Given the description of an element on the screen output the (x, y) to click on. 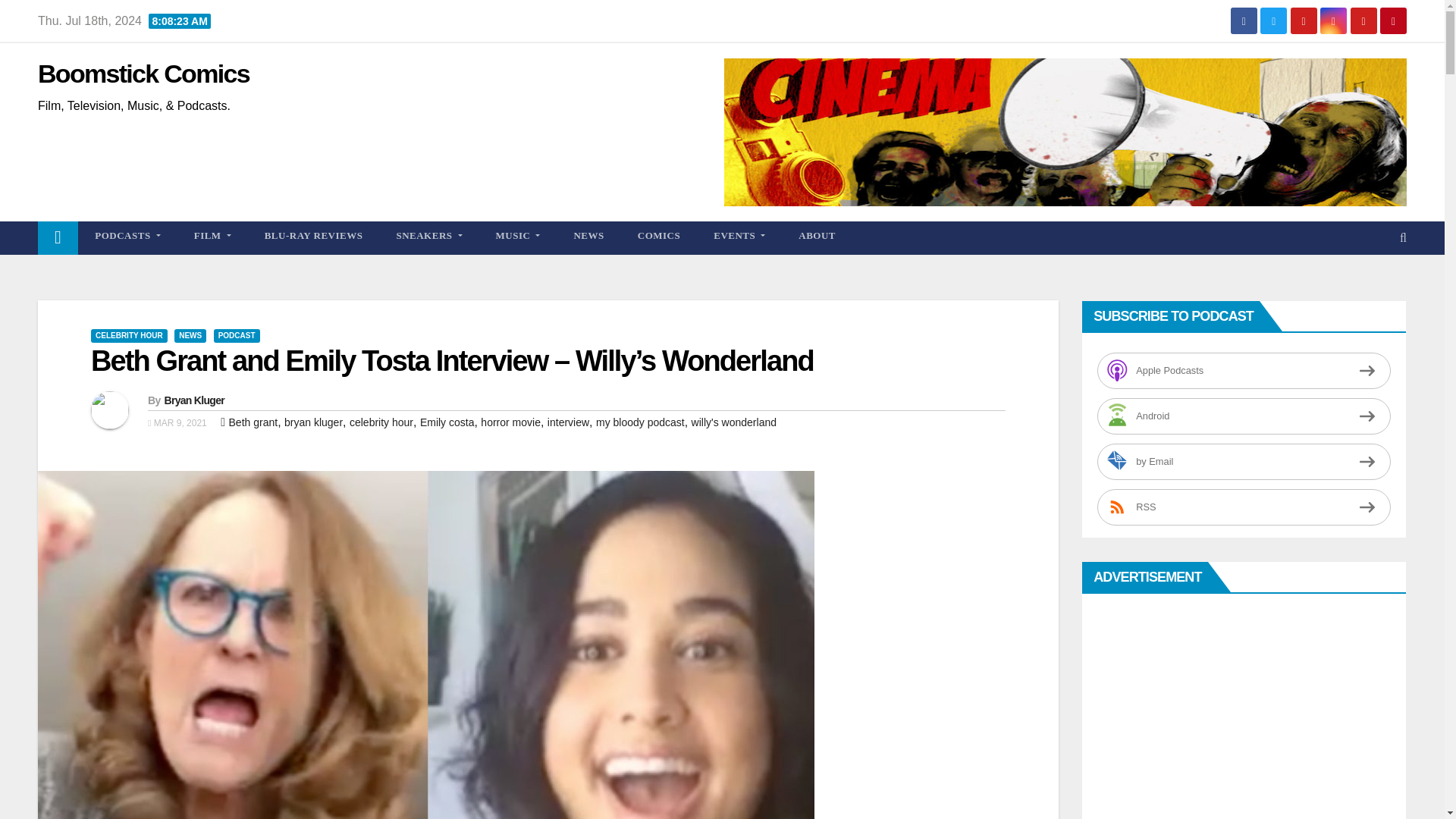
Home (57, 237)
ABOUT (816, 235)
MUSIC (518, 235)
Sneakers (428, 235)
CELEBRITY HOUR (128, 336)
Boomstick Comics (142, 72)
PODCASTS (127, 235)
EVENTS (739, 235)
Music (518, 235)
NEWS (588, 235)
PODCAST (237, 336)
Blu-ray Reviews (313, 235)
Film (212, 235)
FILM (212, 235)
NEWS (190, 336)
